Given the description of an element on the screen output the (x, y) to click on. 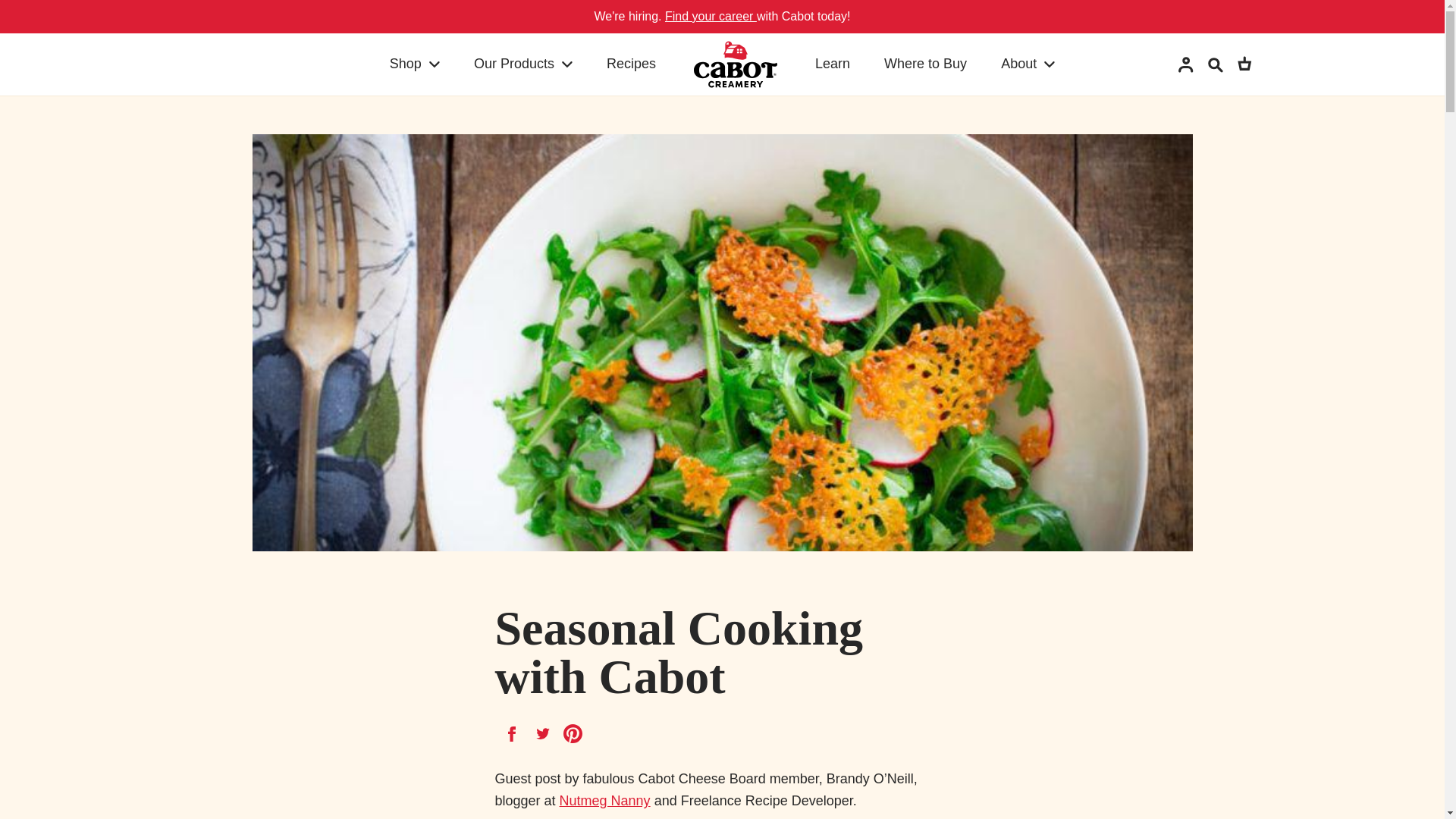
Where to Buy (925, 64)
About (1014, 64)
Learn (831, 64)
Careers (711, 15)
Our Products (510, 64)
Find your career (711, 15)
Recipes (631, 64)
Pinterest (572, 732)
